Given the description of an element on the screen output the (x, y) to click on. 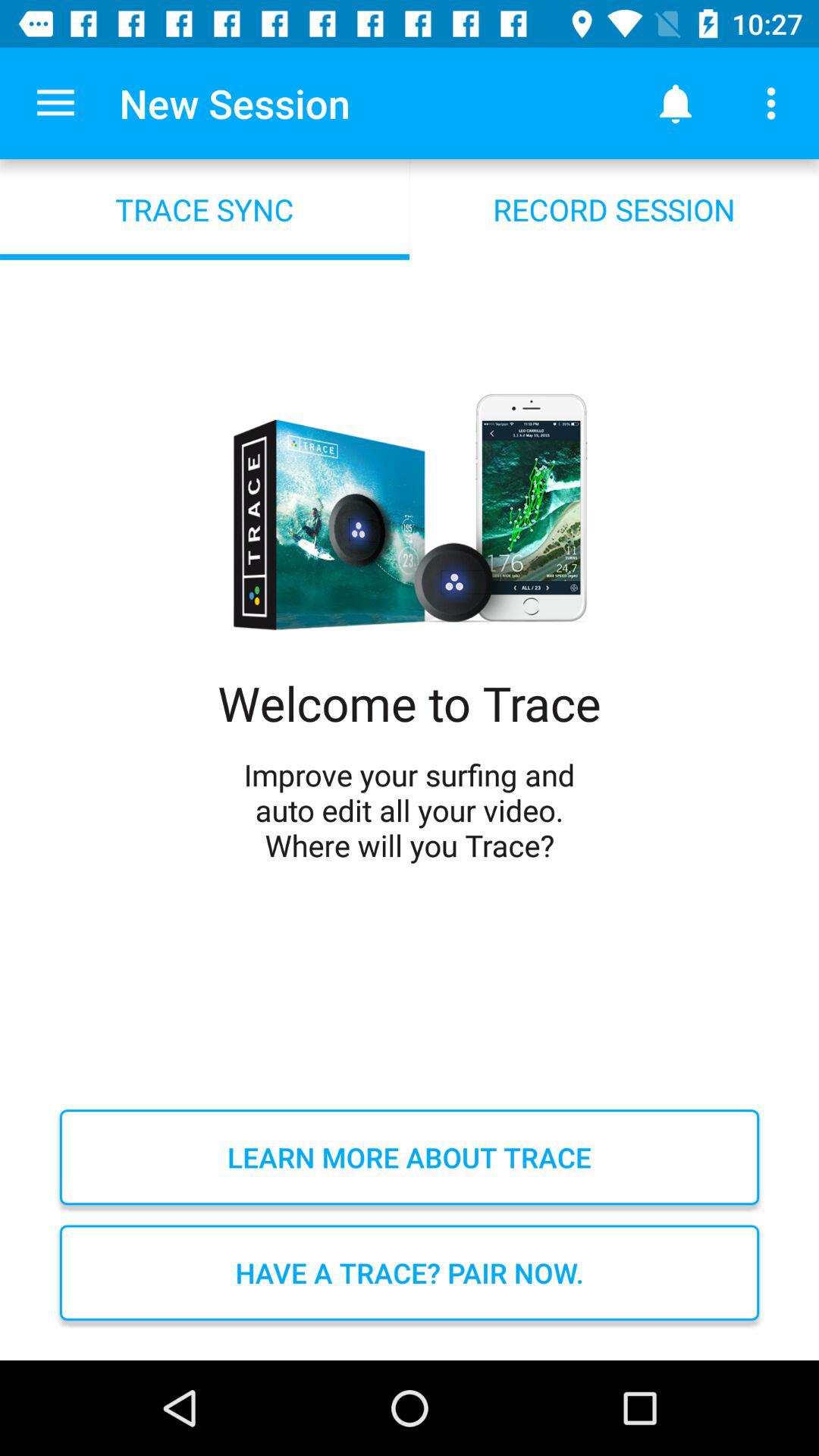
select the icon next to the new session item (675, 103)
